Given the description of an element on the screen output the (x, y) to click on. 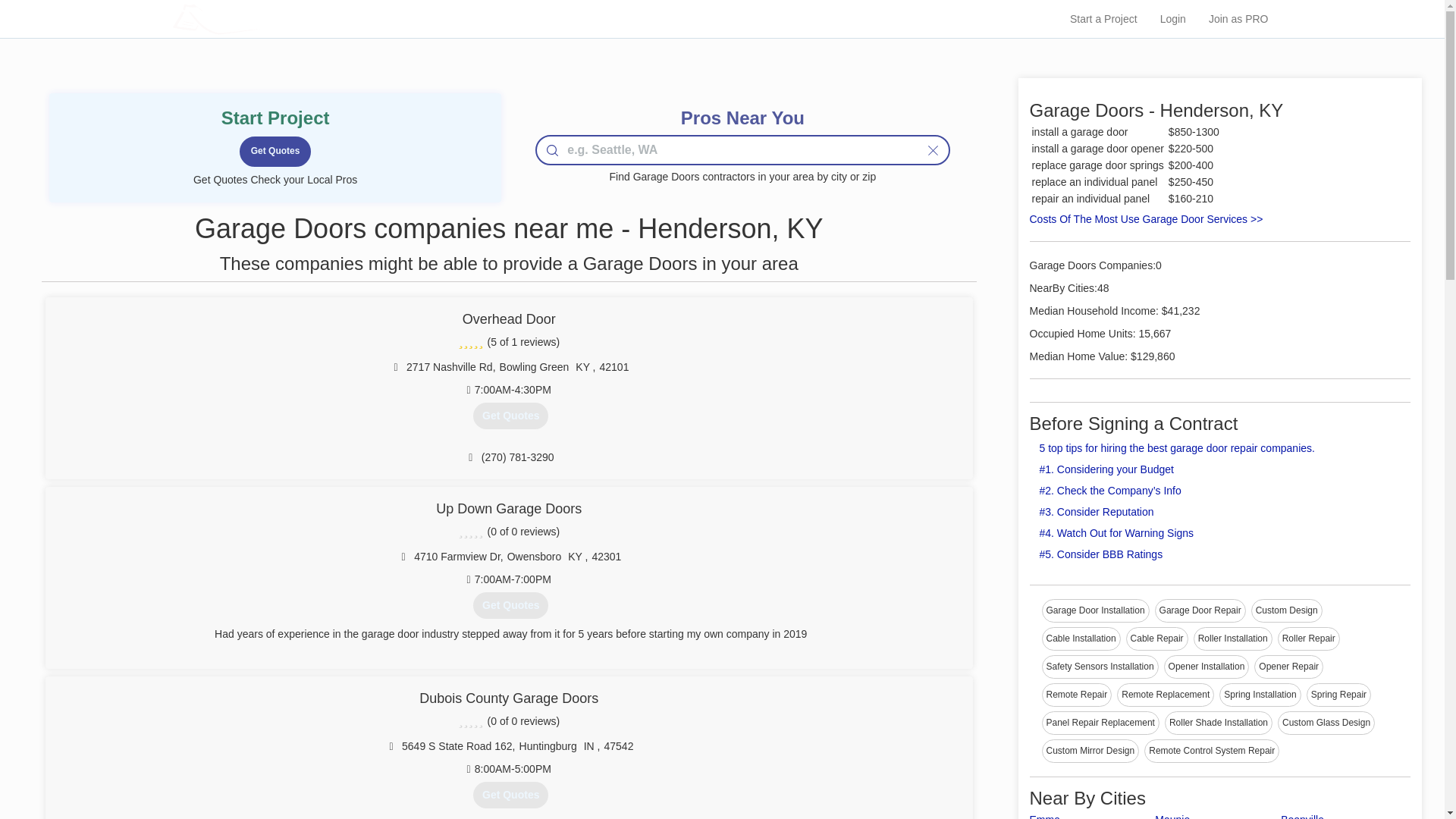
Maunie (1171, 816)
Get Quotes (510, 605)
LOCALPROBOOK (252, 18)
Start a Project (1103, 18)
Boonville (1302, 816)
Emma (1044, 816)
Join as PRO (1237, 18)
Get Quotes (275, 151)
Get Quotes (275, 151)
Get Quotes (510, 415)
